Given the description of an element on the screen output the (x, y) to click on. 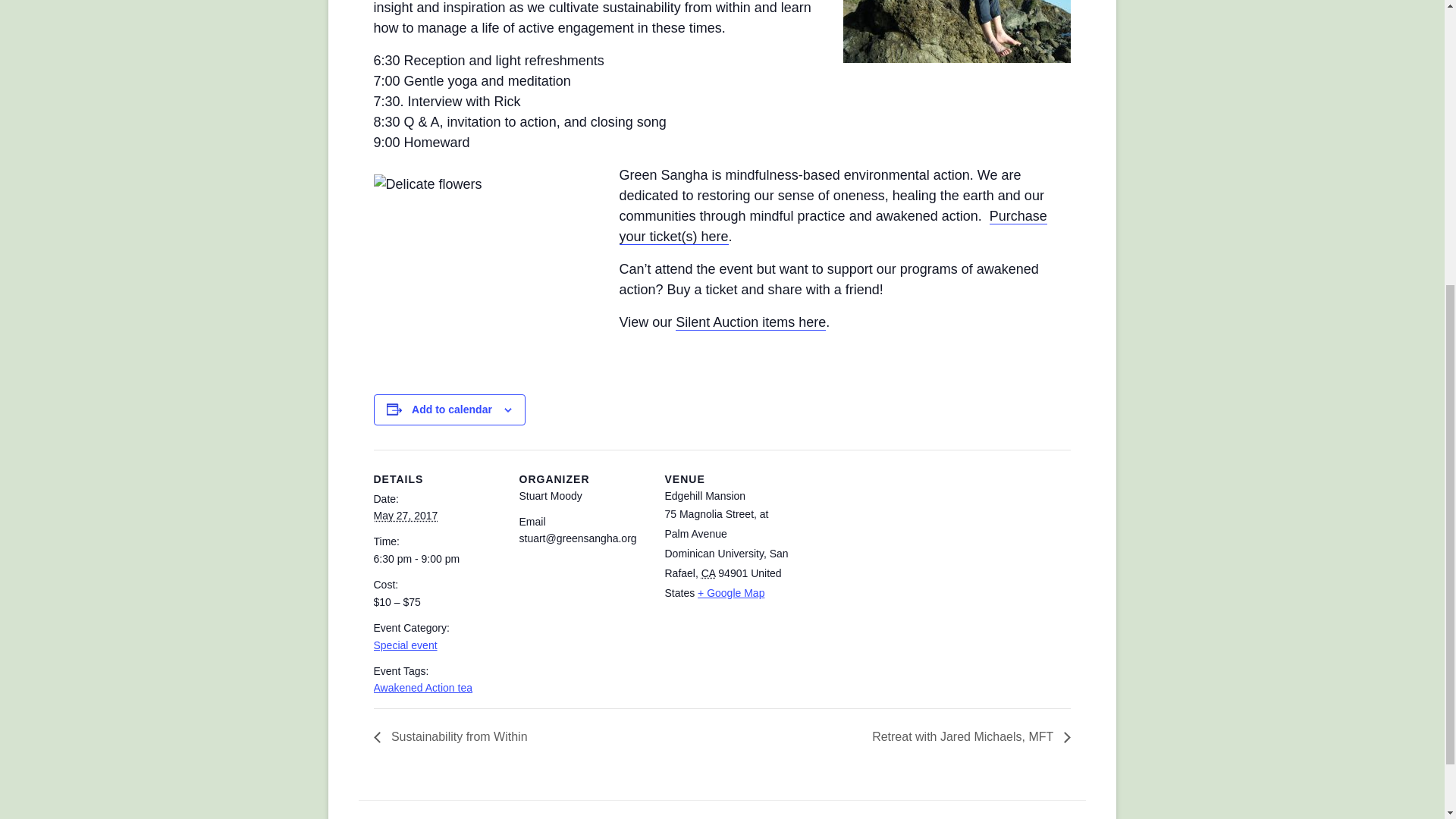
Add to calendar (452, 409)
2017-05-27 (405, 515)
California (708, 573)
Silent Auction items here (750, 322)
Special event (404, 645)
Click to view a Google Map (730, 592)
2017-05-27 (436, 558)
